Given the description of an element on the screen output the (x, y) to click on. 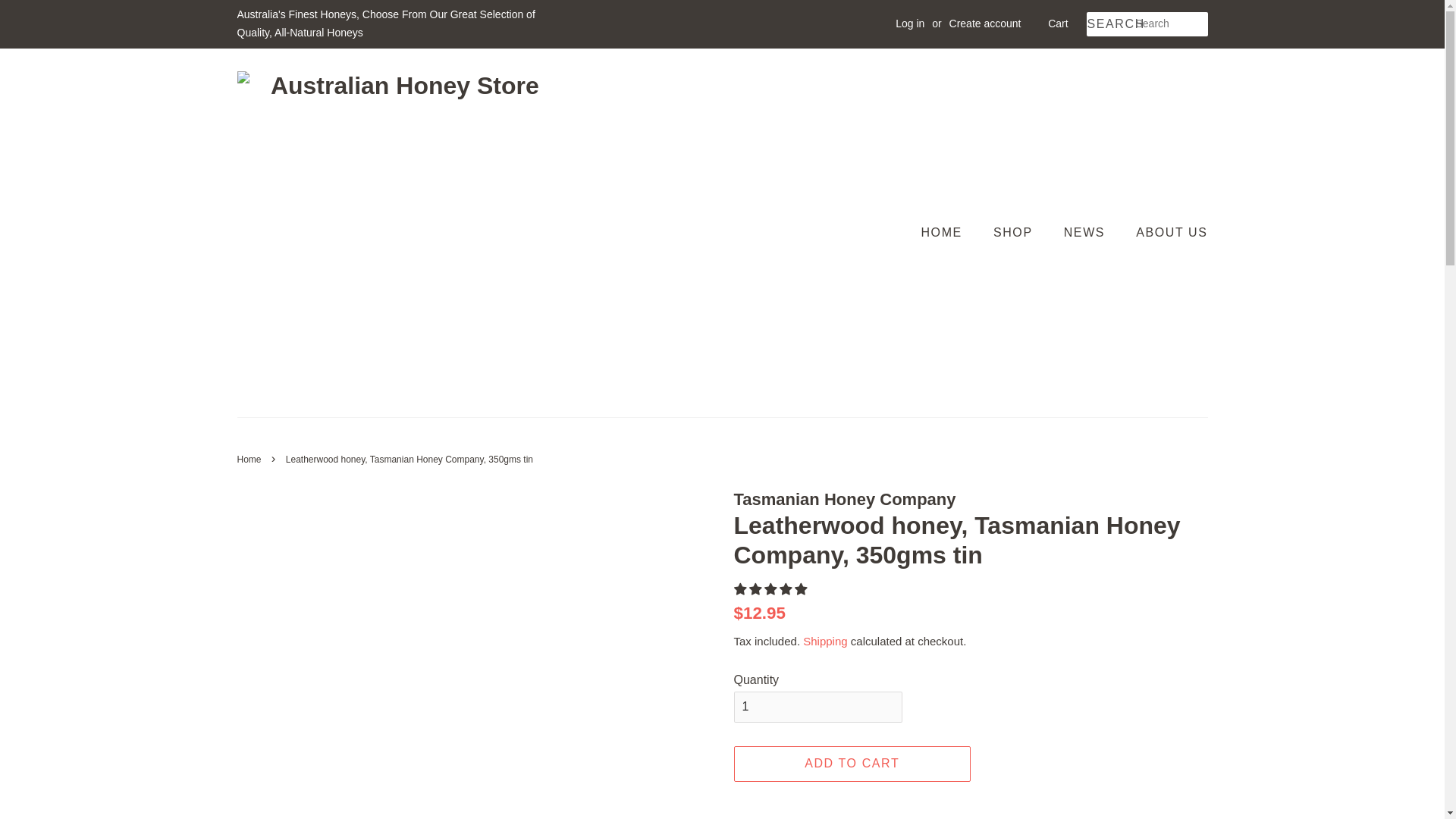
SHOP (1014, 232)
1 (817, 706)
ABOUT US (1165, 232)
NEWS (1085, 232)
Back to the frontpage (249, 459)
Create account (985, 23)
Log in (909, 23)
HOME (948, 232)
SEARCH (1110, 24)
Cart (1057, 24)
